Given the description of an element on the screen output the (x, y) to click on. 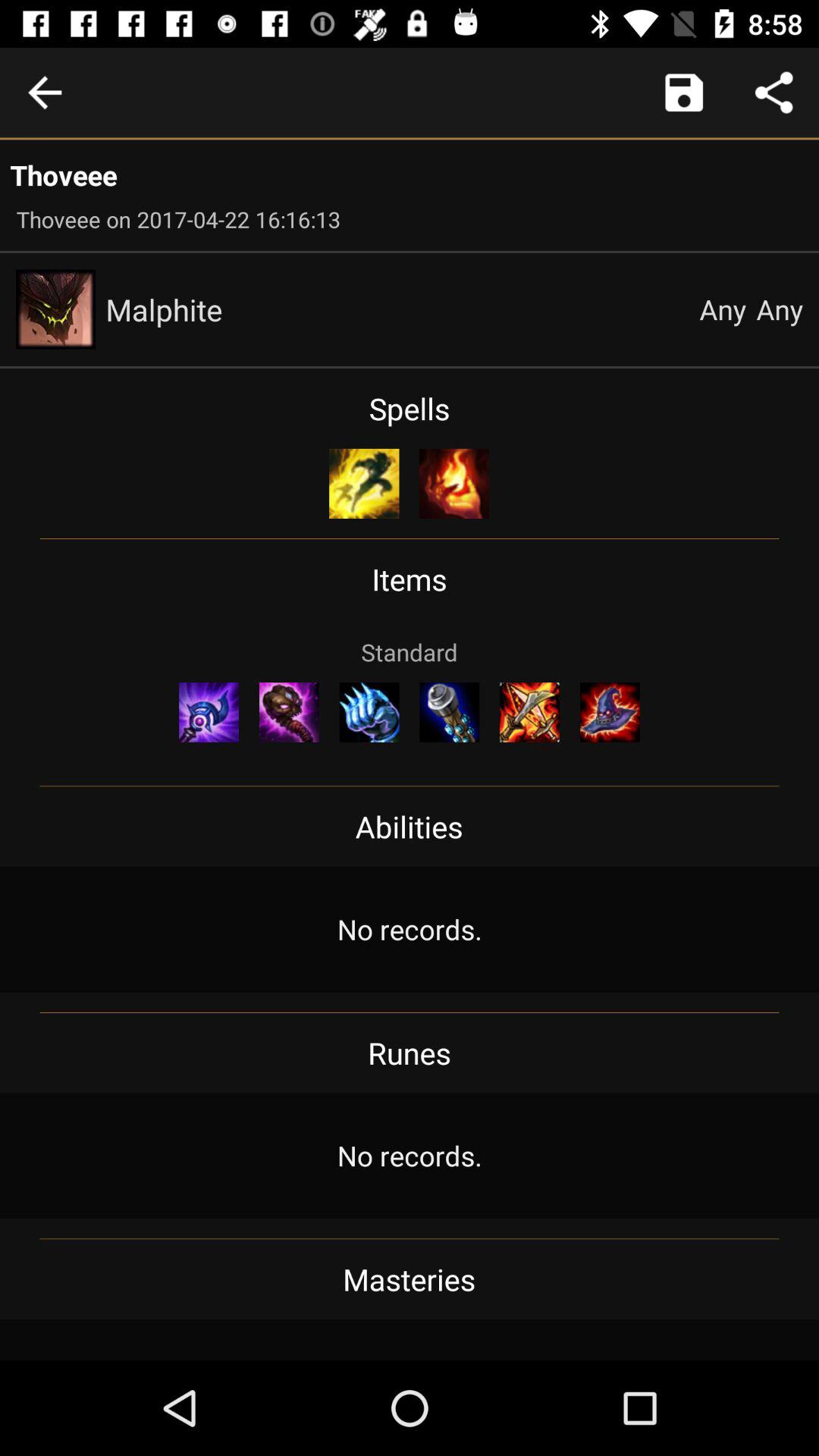
go to previous scene (44, 92)
